Given the description of an element on the screen output the (x, y) to click on. 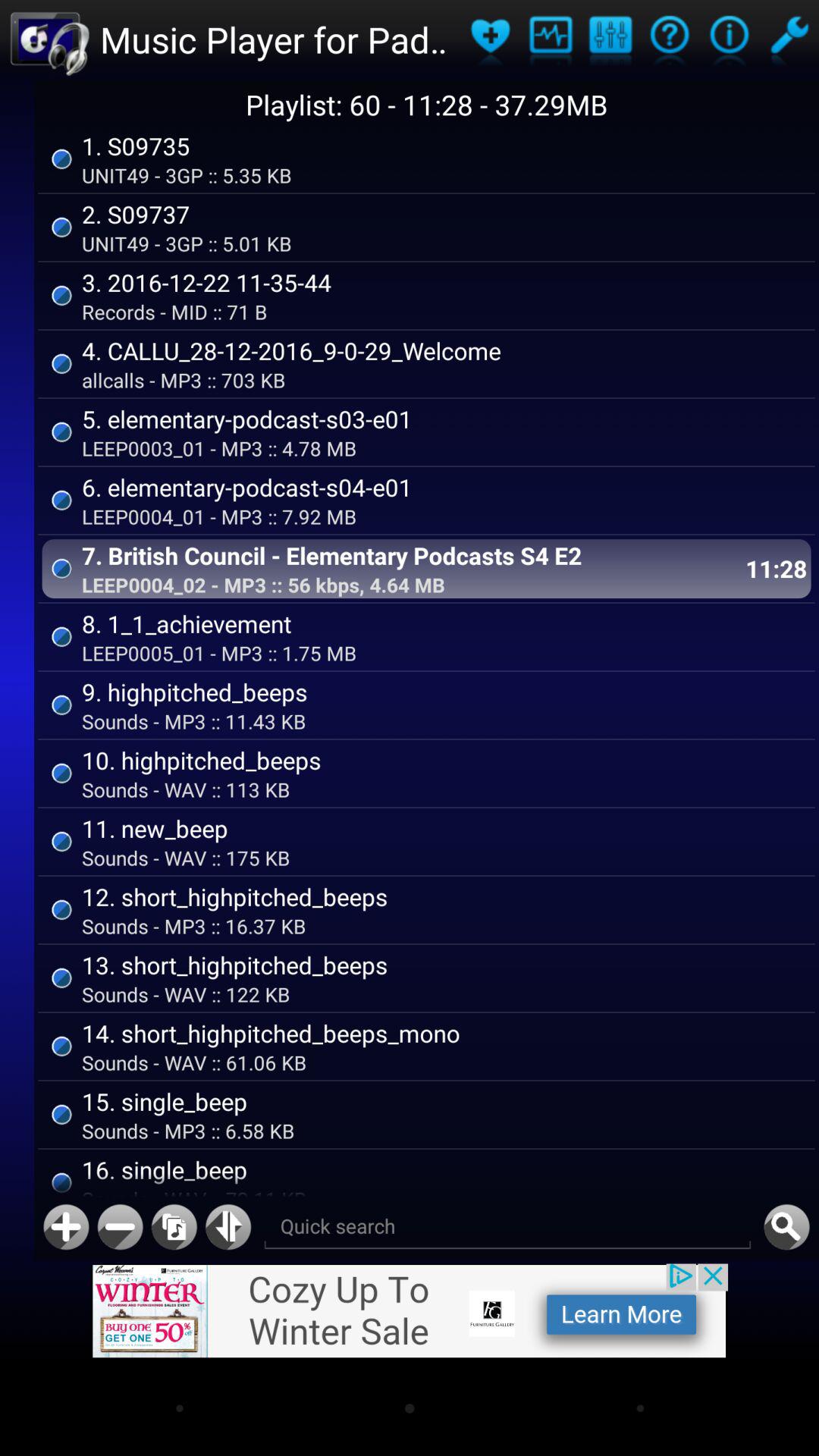
settings (789, 39)
